Given the description of an element on the screen output the (x, y) to click on. 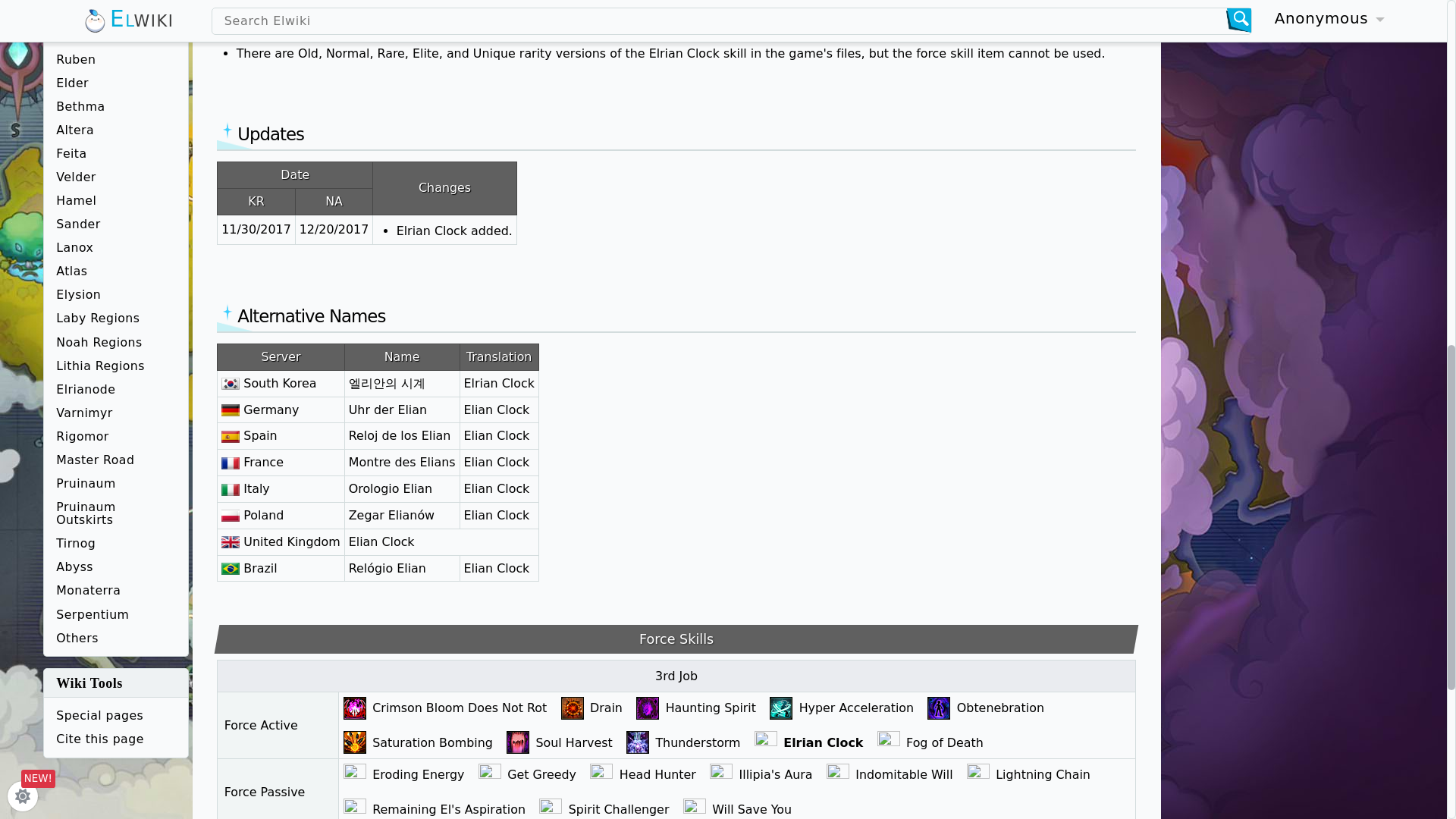
Force Skills (676, 639)
Crimson Bloom Does Not Rot (462, 707)
3rd Job (676, 676)
Drain (608, 707)
Hyper Acceleration (858, 707)
Haunting Spirit (712, 707)
Force Skills (676, 639)
